Given the description of an element on the screen output the (x, y) to click on. 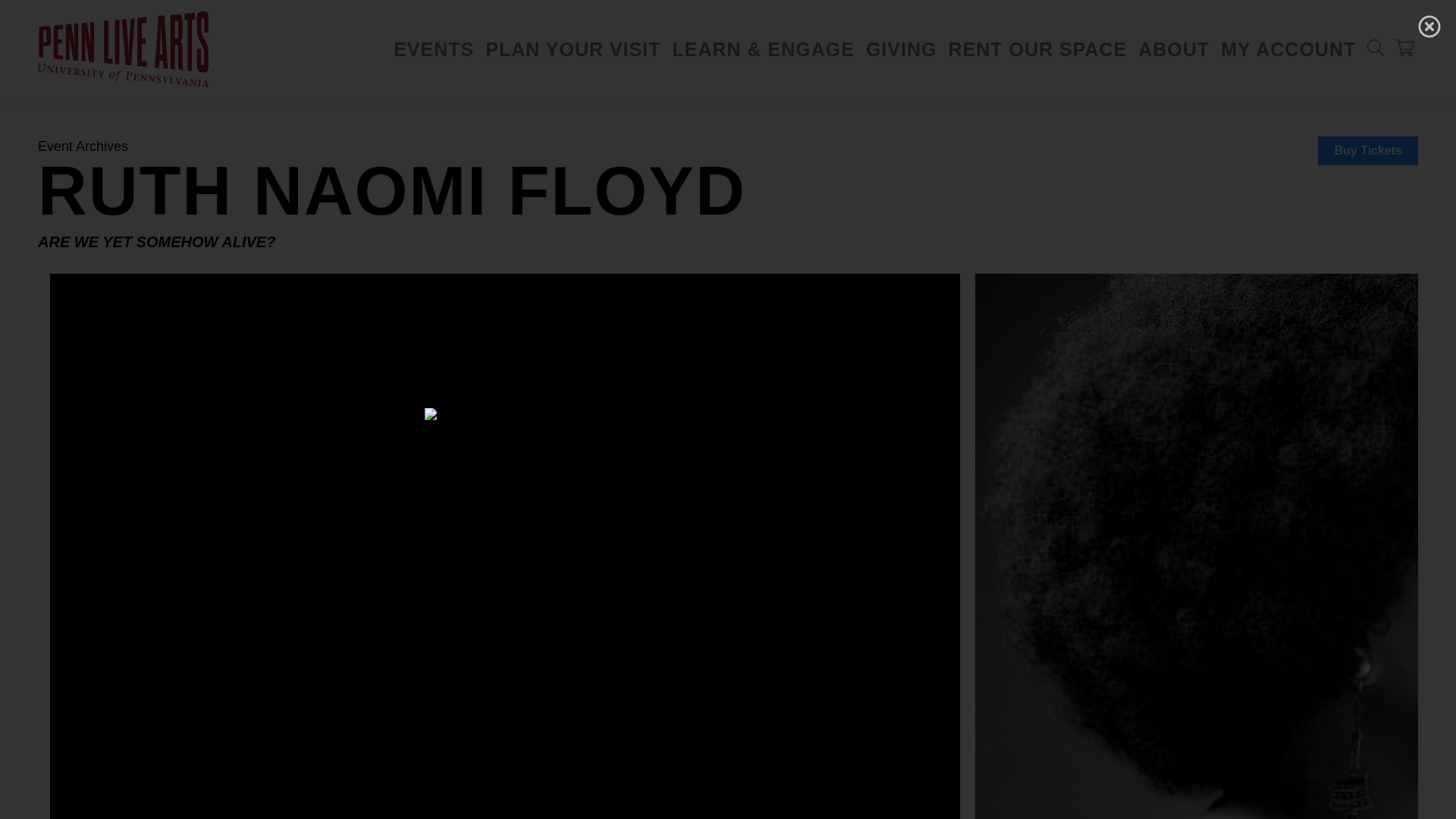
PLAN YOUR VISIT (572, 48)
RENT OUR SPACE (1036, 48)
EVENTS (433, 48)
SHOPPING CART (1403, 47)
ABOUT (1173, 48)
GIVING (901, 48)
SEARCH (1375, 47)
